Given the description of an element on the screen output the (x, y) to click on. 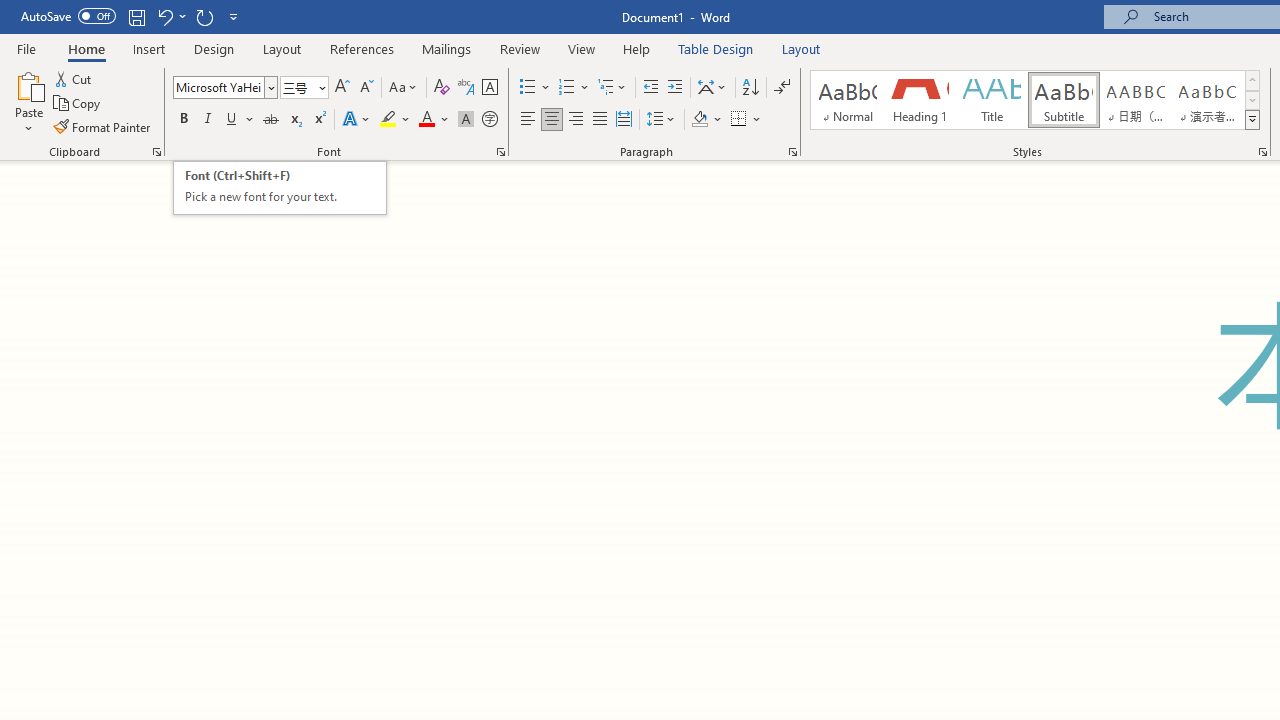
Subtitle (279, 188)
